Given the description of an element on the screen output the (x, y) to click on. 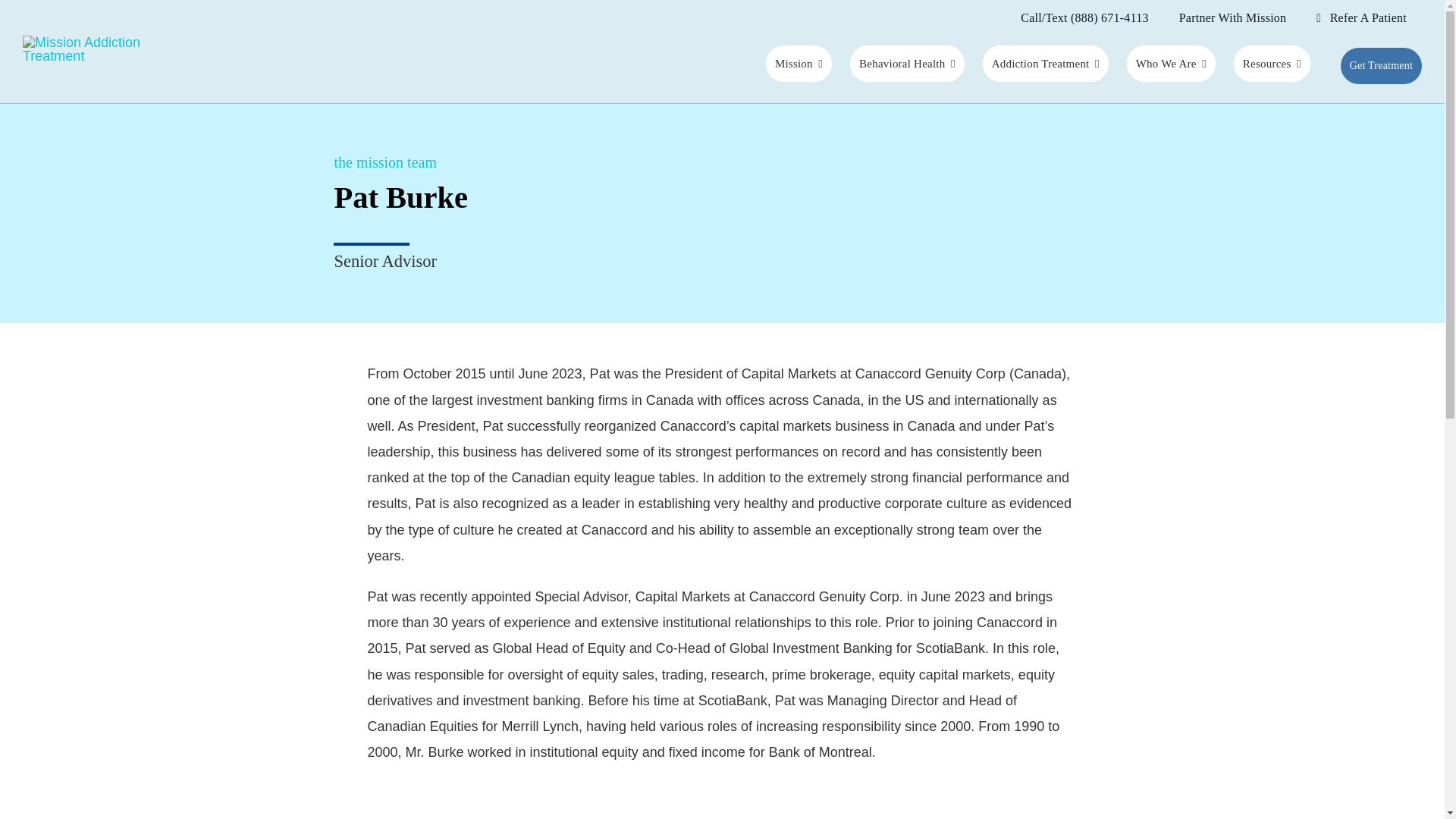
Who We Are (1170, 63)
Get Treatment (1381, 64)
Refer A Patient (1361, 18)
Addiction Treatment (1045, 63)
Partner With Mission (1232, 18)
Resources (1271, 63)
Mission (798, 63)
Behavioral Health (906, 63)
